Given the description of an element on the screen output the (x, y) to click on. 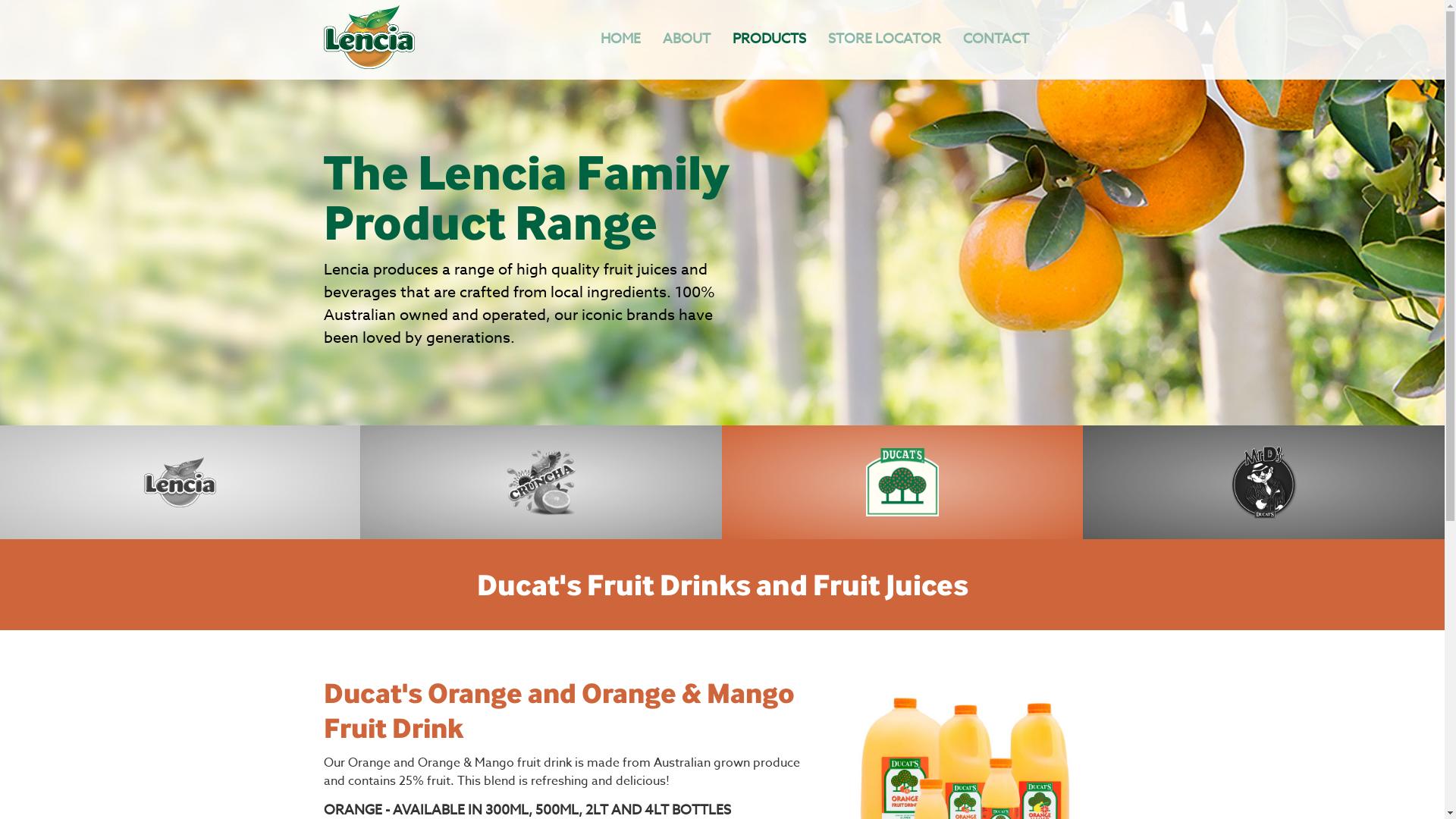
ABOUT Element type: text (686, 38)
STORE LOCATOR Element type: text (884, 38)
Lencia Element type: text (368, 65)
HOME Element type: text (620, 38)
PRODUCTS Element type: text (769, 38)
CONTACT Element type: text (996, 38)
Skip to content Element type: text (21, 27)
